Given the description of an element on the screen output the (x, y) to click on. 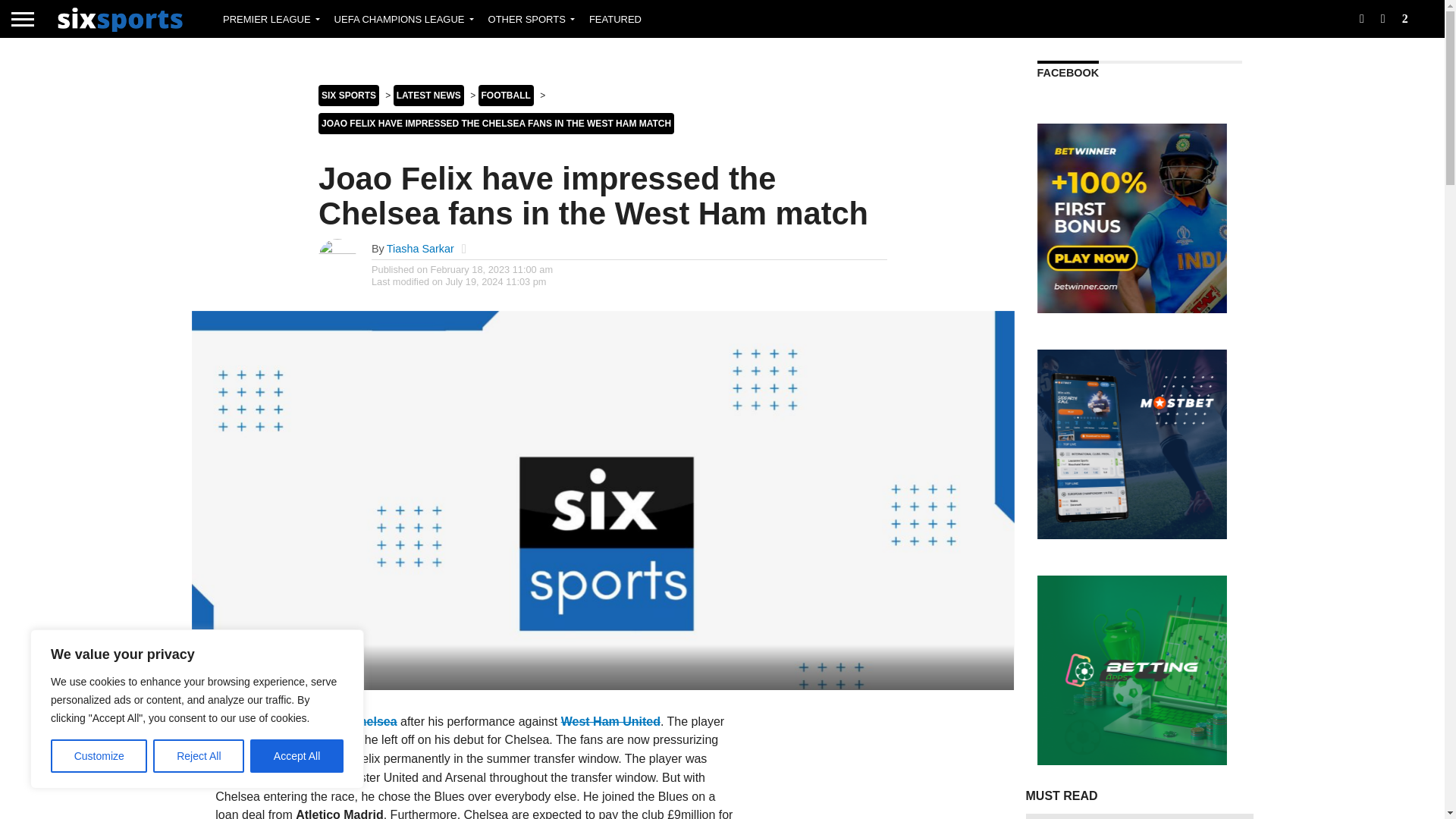
Go to the FOOTBALL Category archives. (506, 95)
Accept All (296, 756)
Posts by Tiasha Sarkar (420, 248)
Go to Latest News. (428, 95)
Reject All (198, 756)
Go to Six Sports. (348, 95)
Customize (98, 756)
